Given the description of an element on the screen output the (x, y) to click on. 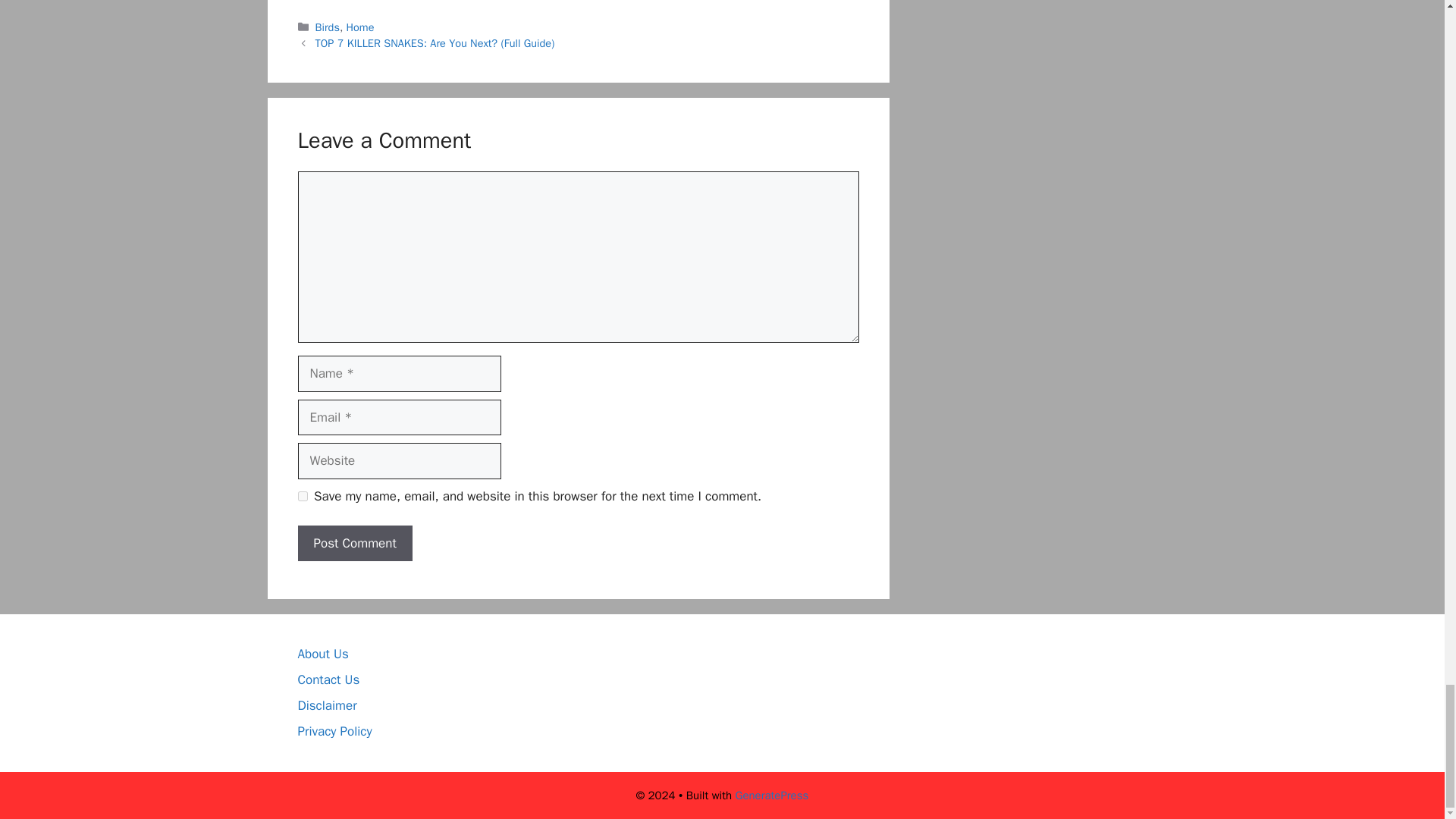
GeneratePress (772, 795)
Contact Us (328, 679)
yes (302, 496)
Home (360, 27)
Privacy Policy (334, 731)
Post Comment (354, 543)
Birds (327, 27)
Post Comment (354, 543)
About Us (322, 653)
Disclaimer (326, 705)
